Given the description of an element on the screen output the (x, y) to click on. 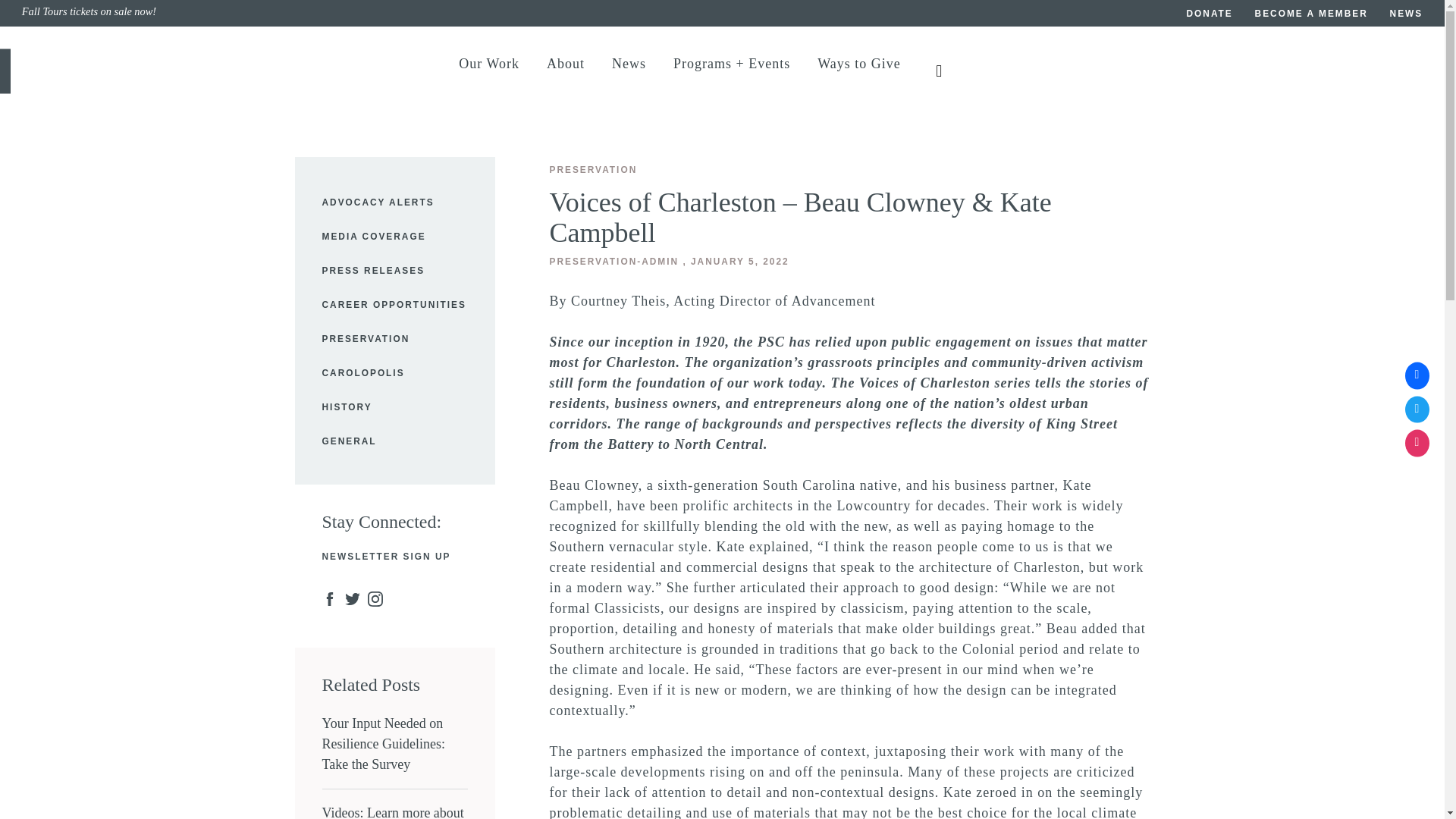
Follow us on Twitter (1417, 409)
BECOME A MEMBER (1311, 15)
Fall Tours tickets on sale now! (371, 13)
About (566, 71)
Connect with us on Facebook (1417, 375)
Our Work (488, 71)
NEWS (1406, 15)
Follow us on Instagram (1417, 443)
DONATE (1209, 15)
News (628, 71)
